Given the description of an element on the screen output the (x, y) to click on. 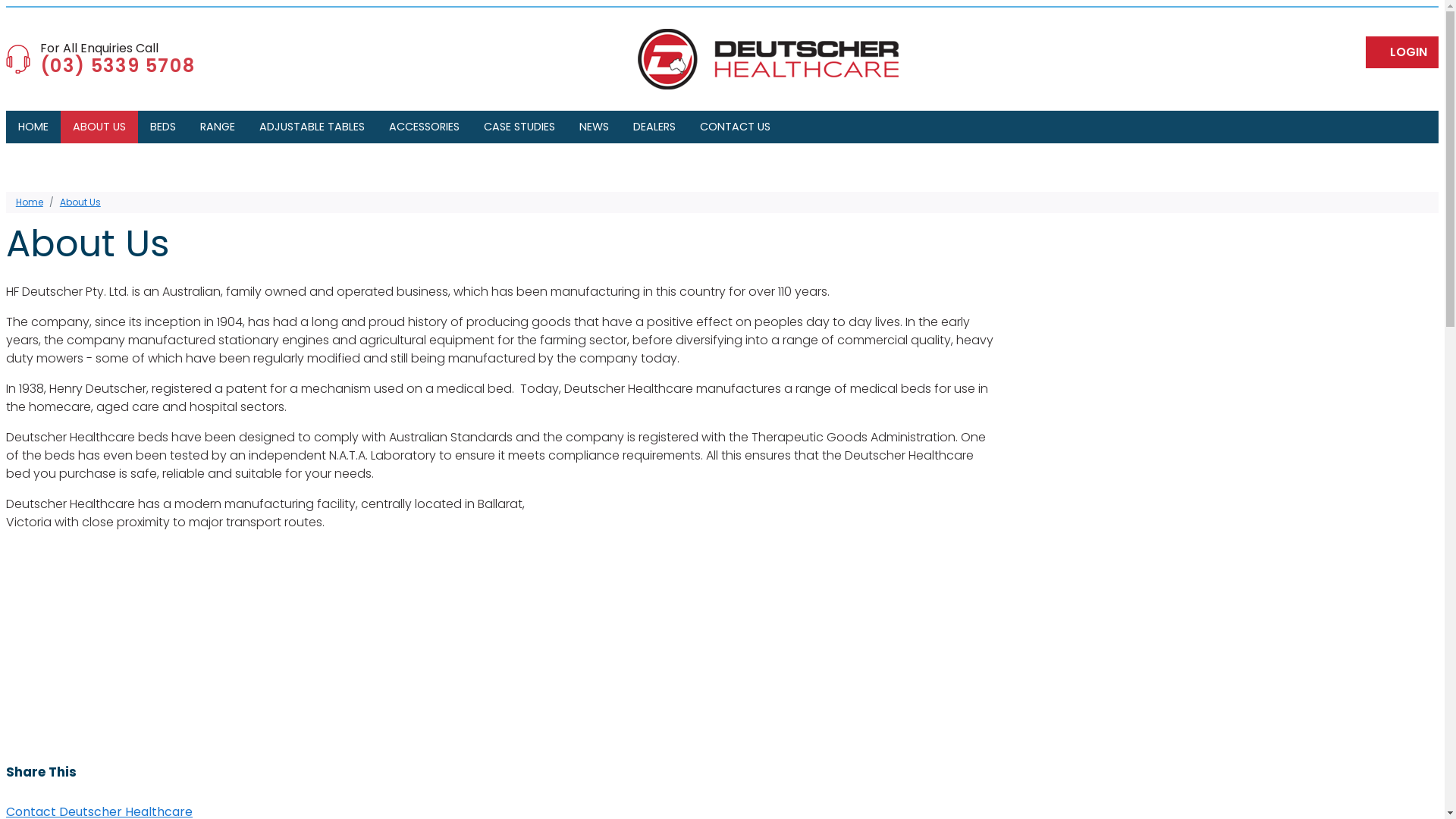
ABOUT US Element type: text (99, 126)
BEDS Element type: text (163, 126)
ACCESSORIES Element type: text (423, 126)
NEWS Element type: text (594, 126)
RANGE Element type: text (217, 126)
CONTACT US Element type: text (734, 126)
ADJUSTABLE TABLES Element type: text (311, 126)
CASE STUDIES Element type: text (519, 126)
Deutscher Healthcare Element type: hover (767, 58)
LOGIN Element type: text (1401, 52)
For All Enquiries Call
(03) 5339 5708 Element type: text (100, 58)
HOME Element type: text (33, 126)
Home Element type: text (29, 201)
About Us Element type: text (79, 201)
DEALERS Element type: text (654, 126)
